Given the description of an element on the screen output the (x, y) to click on. 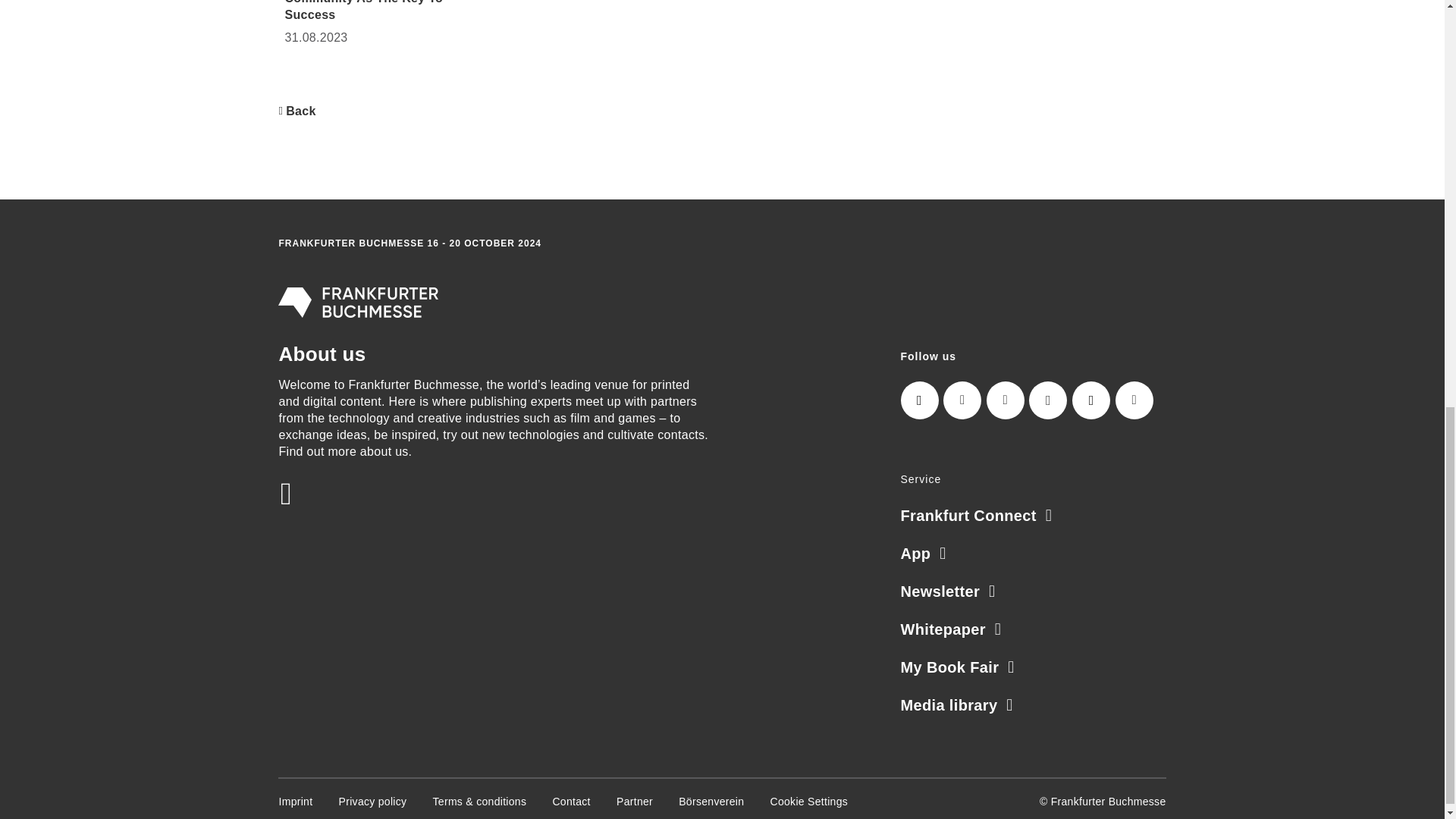
App (923, 553)
Twitter (1006, 400)
Newsletter (948, 590)
Facebook (1048, 400)
TikTok (1090, 400)
Youtube (1134, 400)
Back (296, 110)
Whitepaper (951, 629)
My Book Fair (957, 667)
Frankfurt Connect (976, 515)
Instagram (920, 400)
LinkedIn (962, 400)
Media library (957, 704)
